Given the description of an element on the screen output the (x, y) to click on. 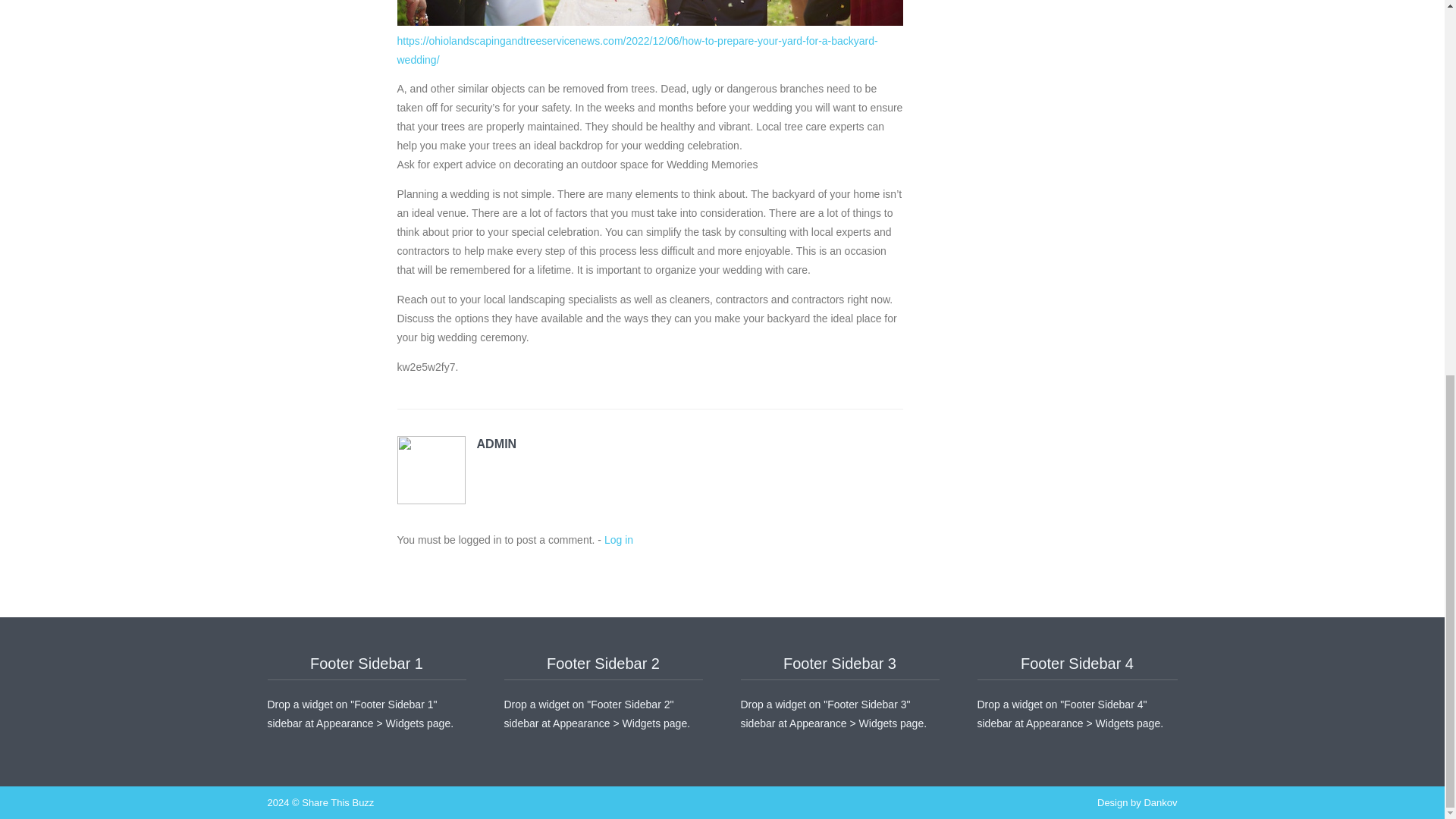
Dankov (1159, 802)
Log in (618, 539)
